Given the description of an element on the screen output the (x, y) to click on. 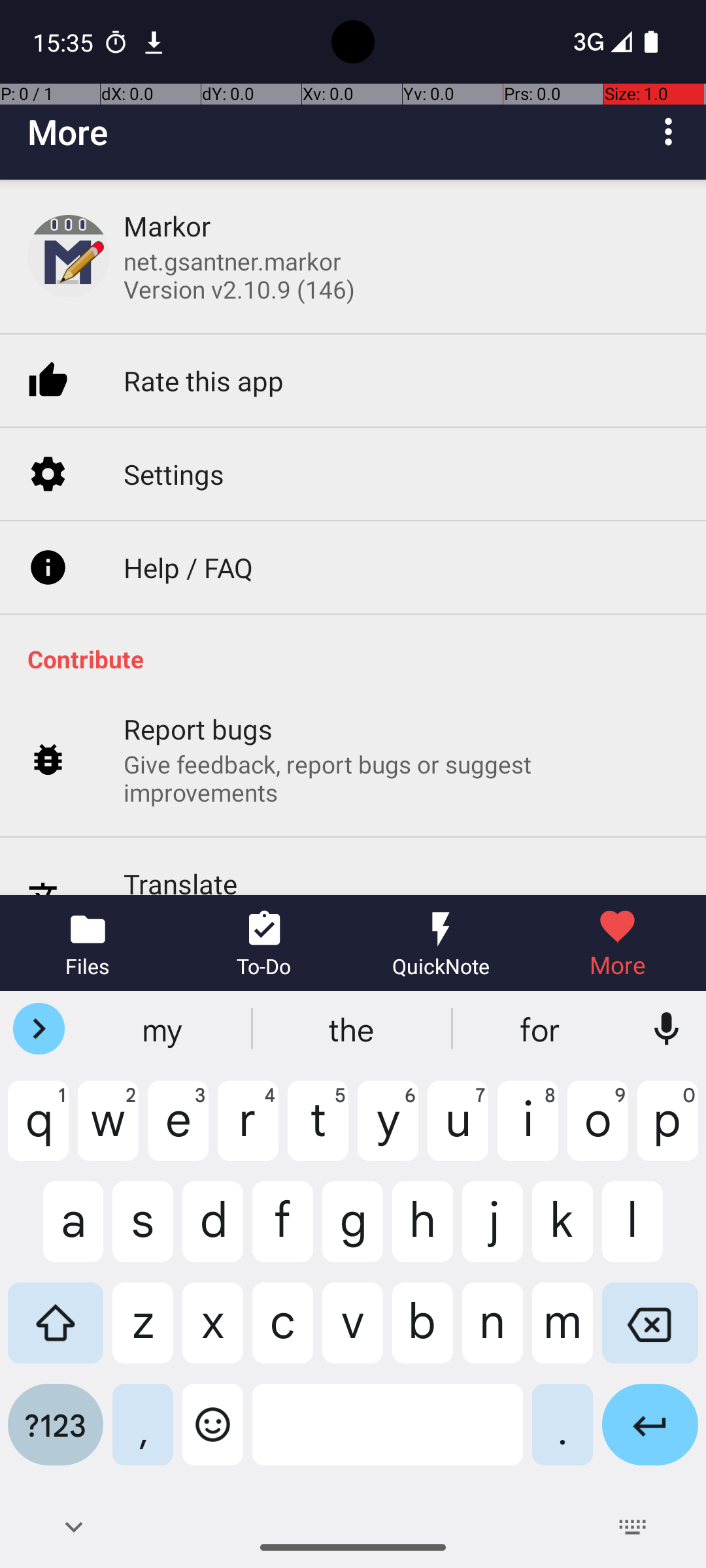
my Element type: android.widget.FrameLayout (163, 1028)
the Element type: android.widget.FrameLayout (352, 1028)
for Element type: android.widget.FrameLayout (541, 1028)
